Given the description of an element on the screen output the (x, y) to click on. 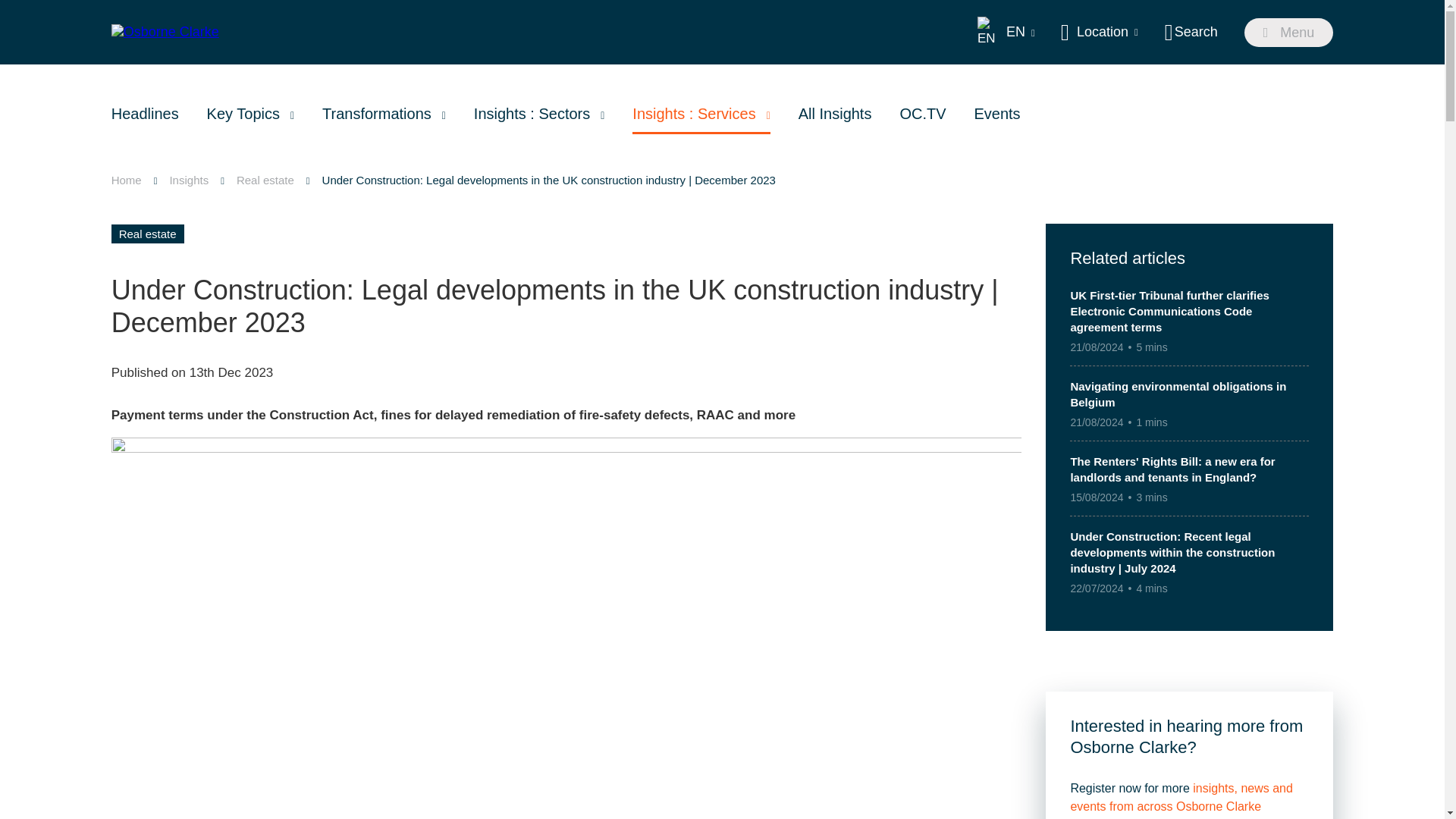
Menu (1288, 32)
Osborne Clarke (165, 32)
